Given the description of an element on the screen output the (x, y) to click on. 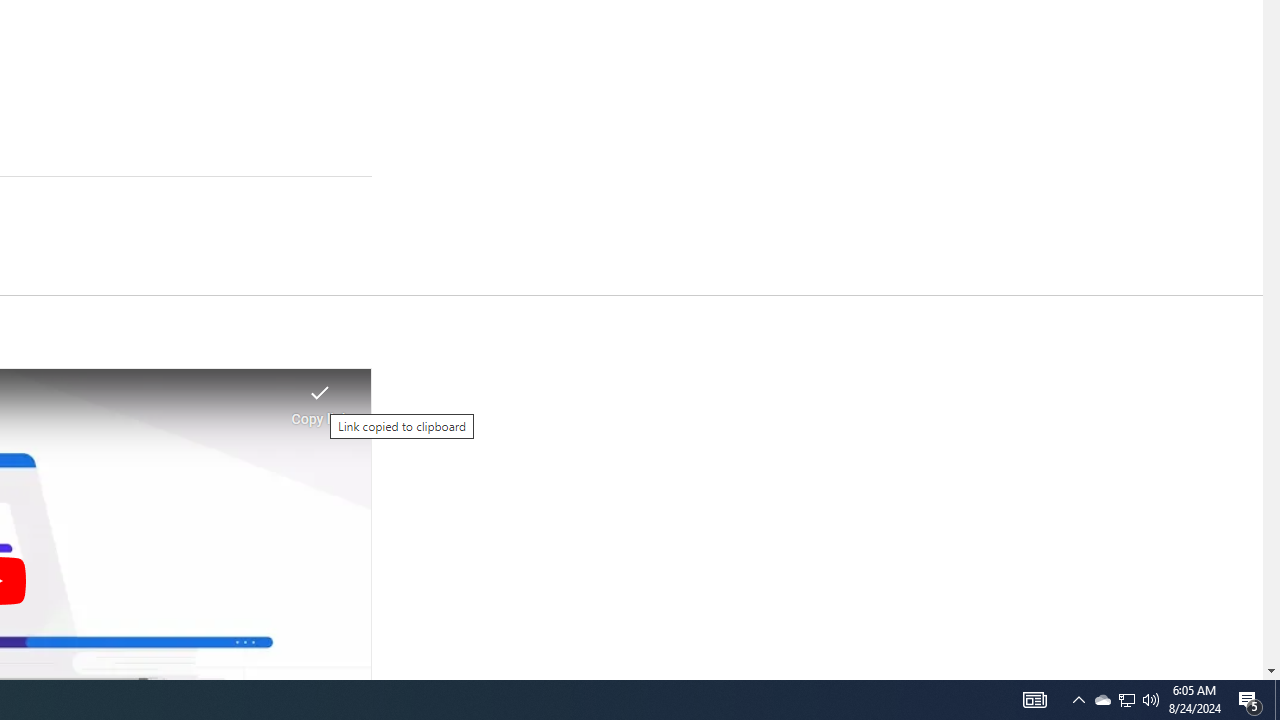
Link copied to clipboard (319, 398)
